Given the description of an element on the screen output the (x, y) to click on. 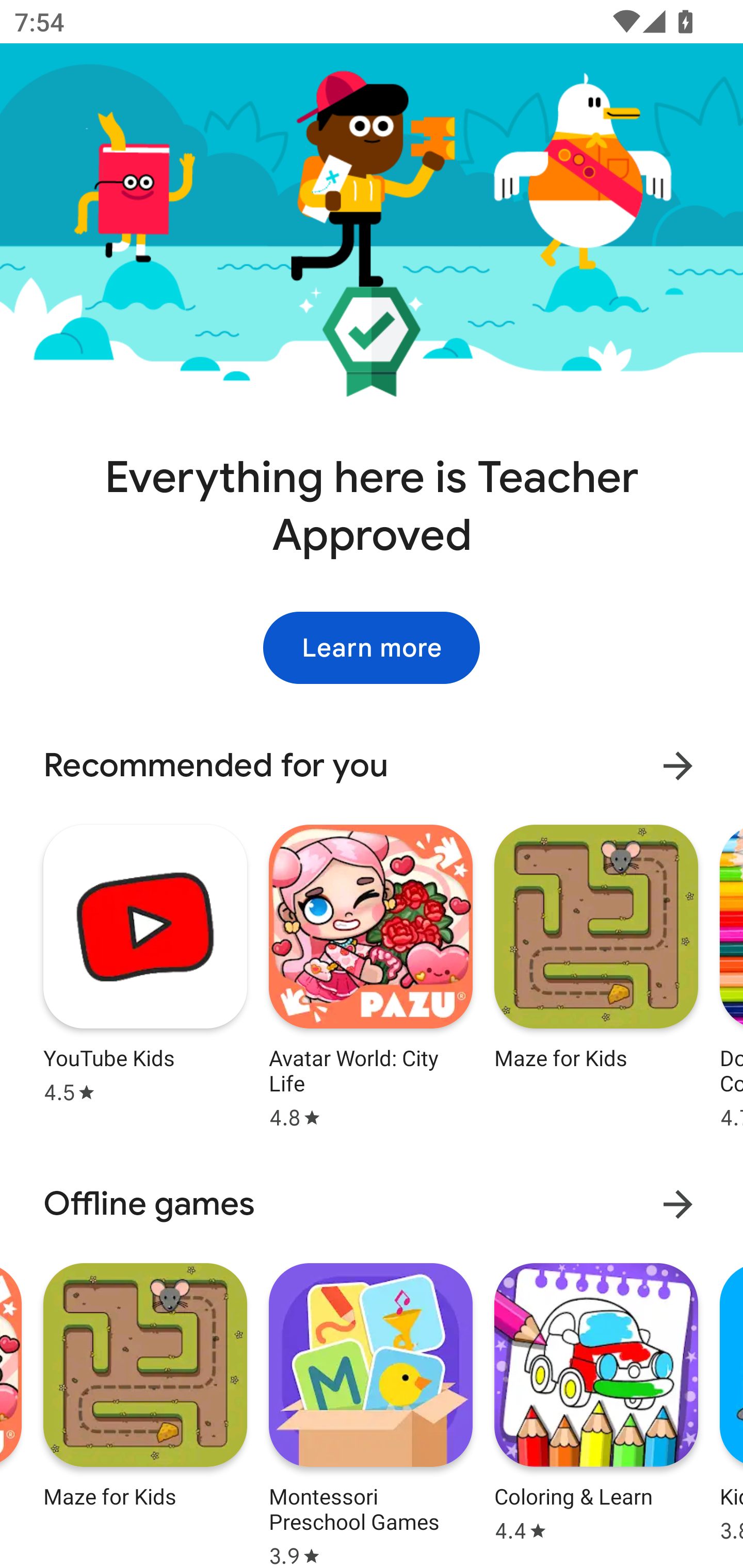
More results for Recommended for you (677, 765)
App: YouTube Kids
Star rating: 4.5


 (144, 973)
App: Avatar World: City Life
Star rating: 4.8


 (370, 973)
App: Maze for Kids


 (595, 973)
Offline games
 More results for Offline games (371, 1203)
More results for Offline games (677, 1204)
App: Maze for Kids


 (144, 1412)
App: Coloring & Learn
Star rating: 4.4


 (595, 1412)
